Given the description of an element on the screen output the (x, y) to click on. 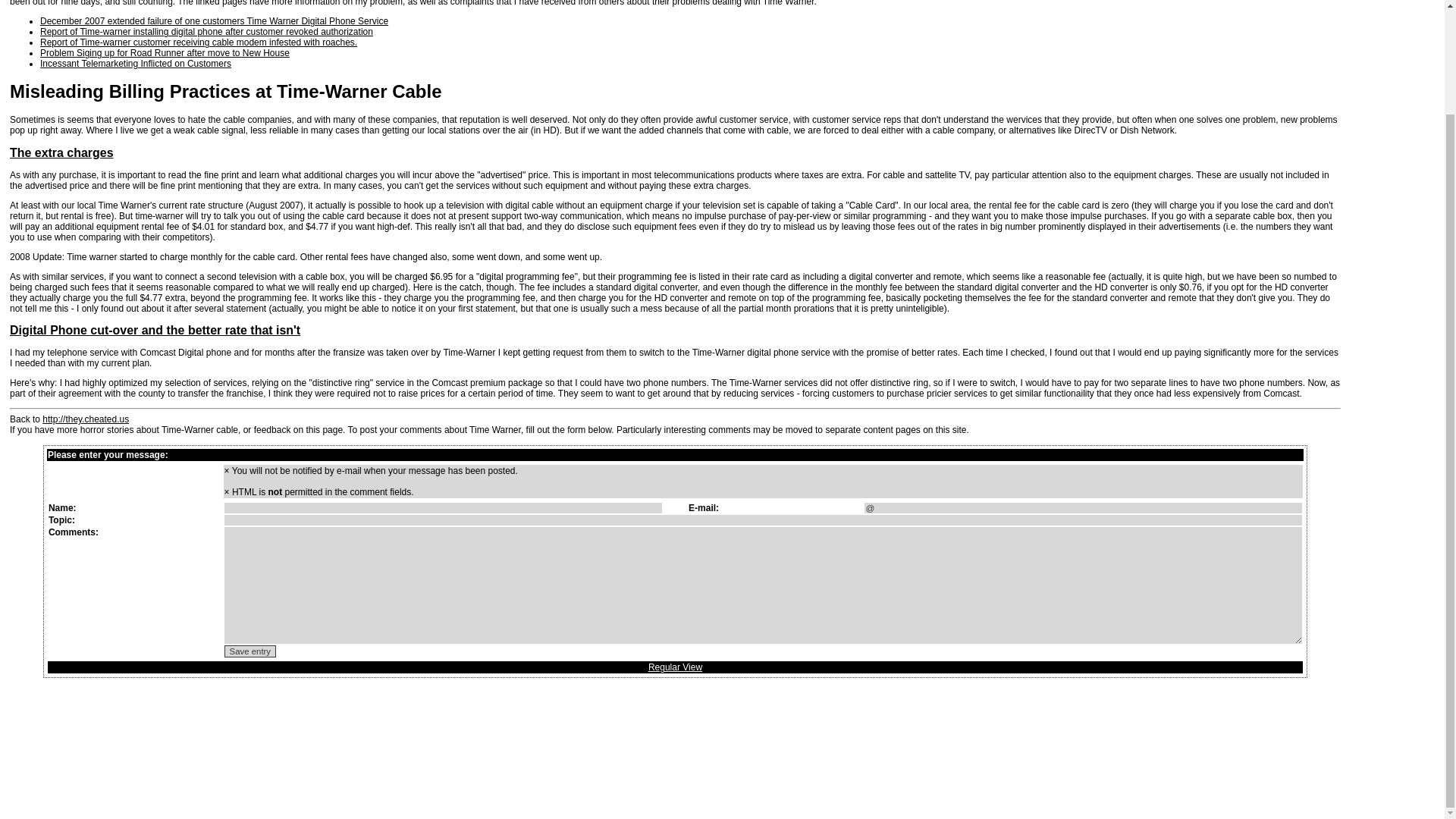
Incessant Telemarketing Inflicted on Customers (135, 63)
Problem Siging up for Road Runner after move to New House (164, 52)
Save entry (250, 651)
Save entry (250, 651)
Advertisement (1388, 573)
Regular View (674, 666)
Advertisement (1388, 173)
